Given the description of an element on the screen output the (x, y) to click on. 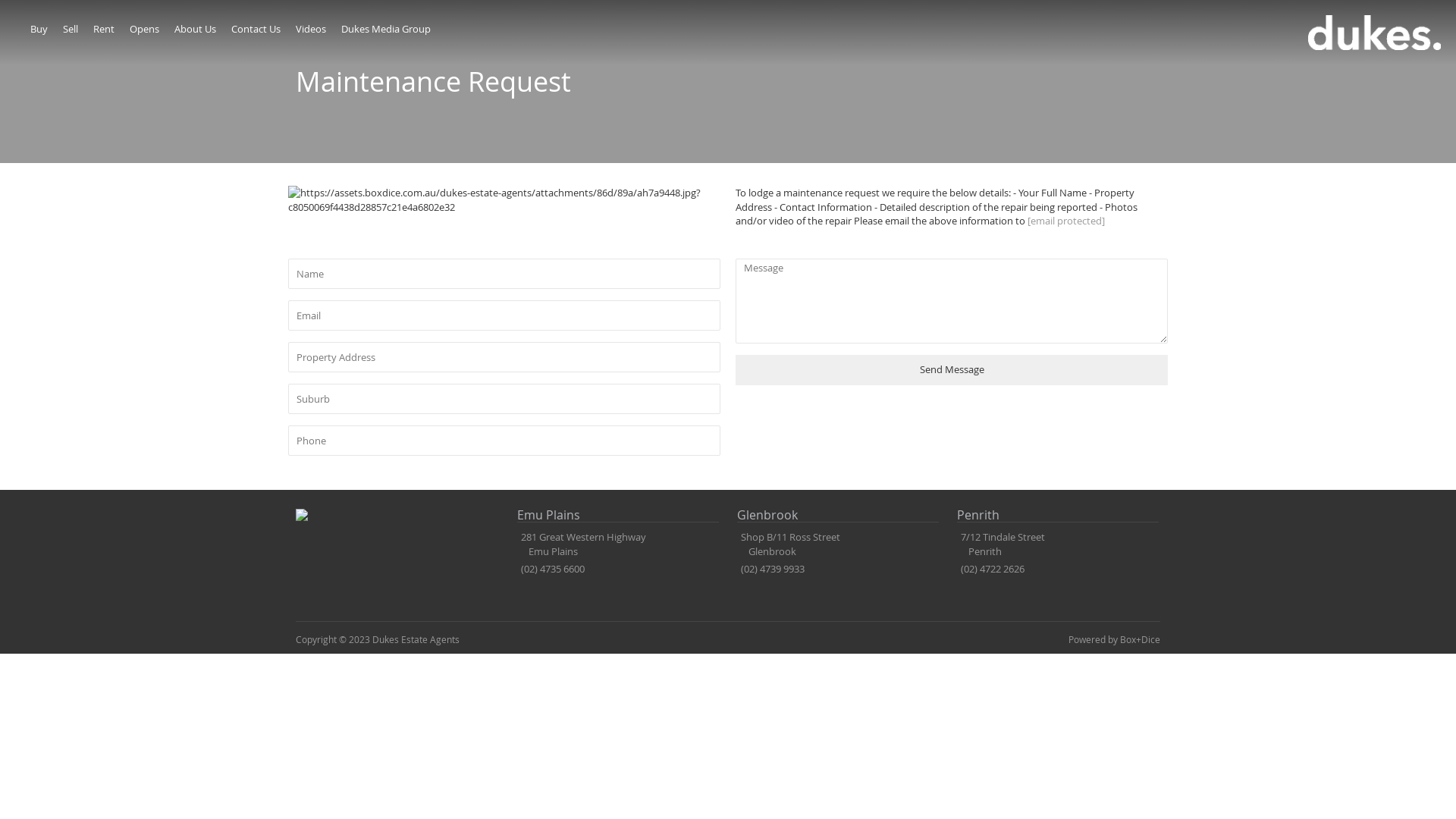
Videos Element type: text (310, 28)
[email protected] Element type: text (1065, 220)
Opens Element type: text (144, 28)
About Us Element type: text (195, 28)
Dukes Media Group Element type: text (385, 28)
(02) 4739 9933 Element type: text (772, 568)
Glenbrook Element type: text (838, 515)
Rent Element type: text (103, 28)
Sell Element type: text (70, 28)
(02) 4735 6600 Element type: text (552, 568)
281 Great Western Highway
     Emu Plains Element type: text (581, 544)
Shop B/11 Ross Street
     Glenbrook Element type: text (788, 544)
Buy Element type: text (38, 28)
Emu Plains Element type: text (618, 515)
(02) 4722 2626 Element type: text (992, 568)
7/12 Tindale Street
     Penrith Element type: text (1000, 544)
Box+Dice Element type: text (1140, 639)
Penrith Element type: text (1058, 515)
Send Message Element type: text (951, 369)
Contact Us Element type: text (255, 28)
